Given the description of an element on the screen output the (x, y) to click on. 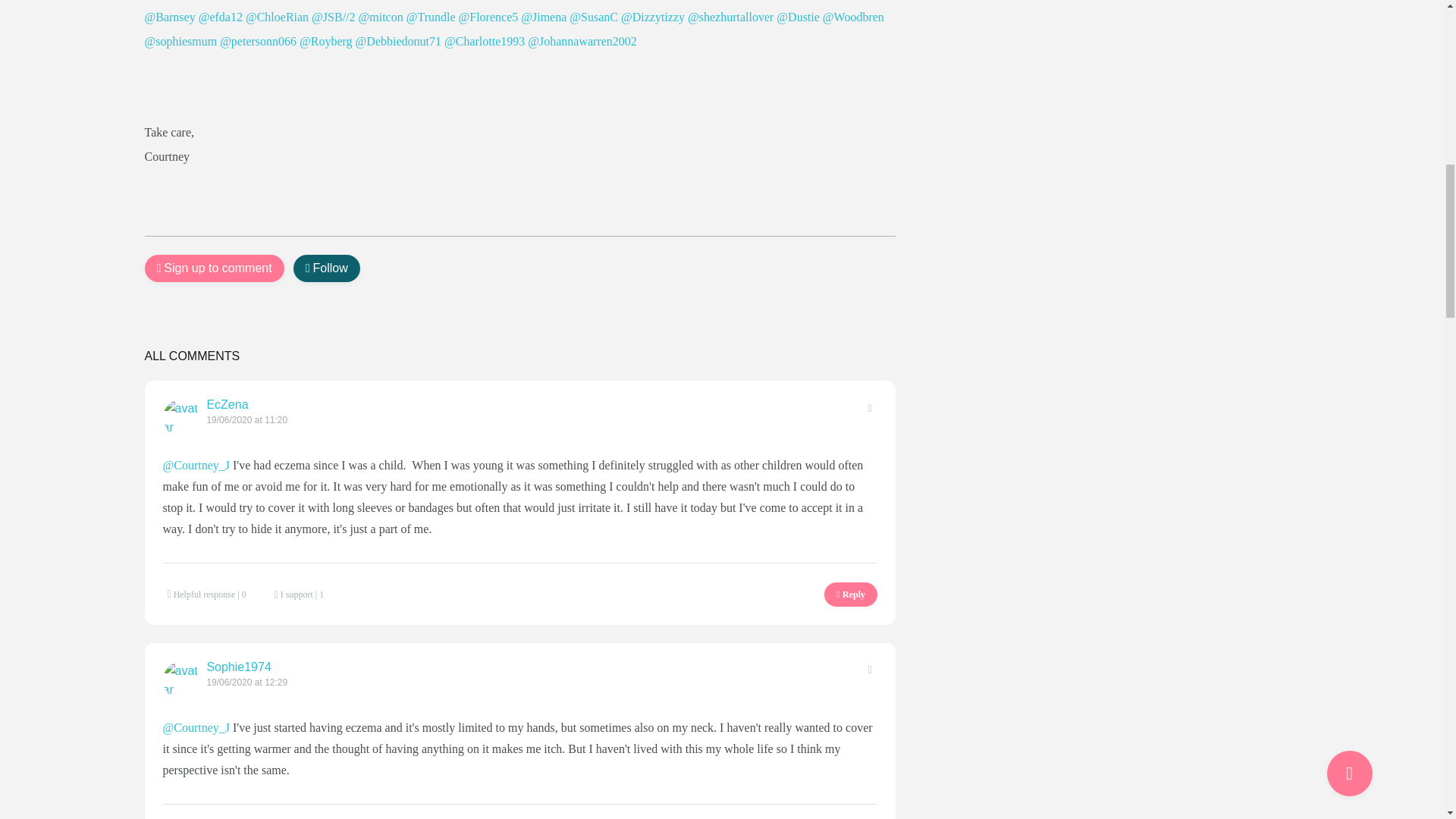
Sign up to comment (213, 267)
Follow (326, 267)
